Given the description of an element on the screen output the (x, y) to click on. 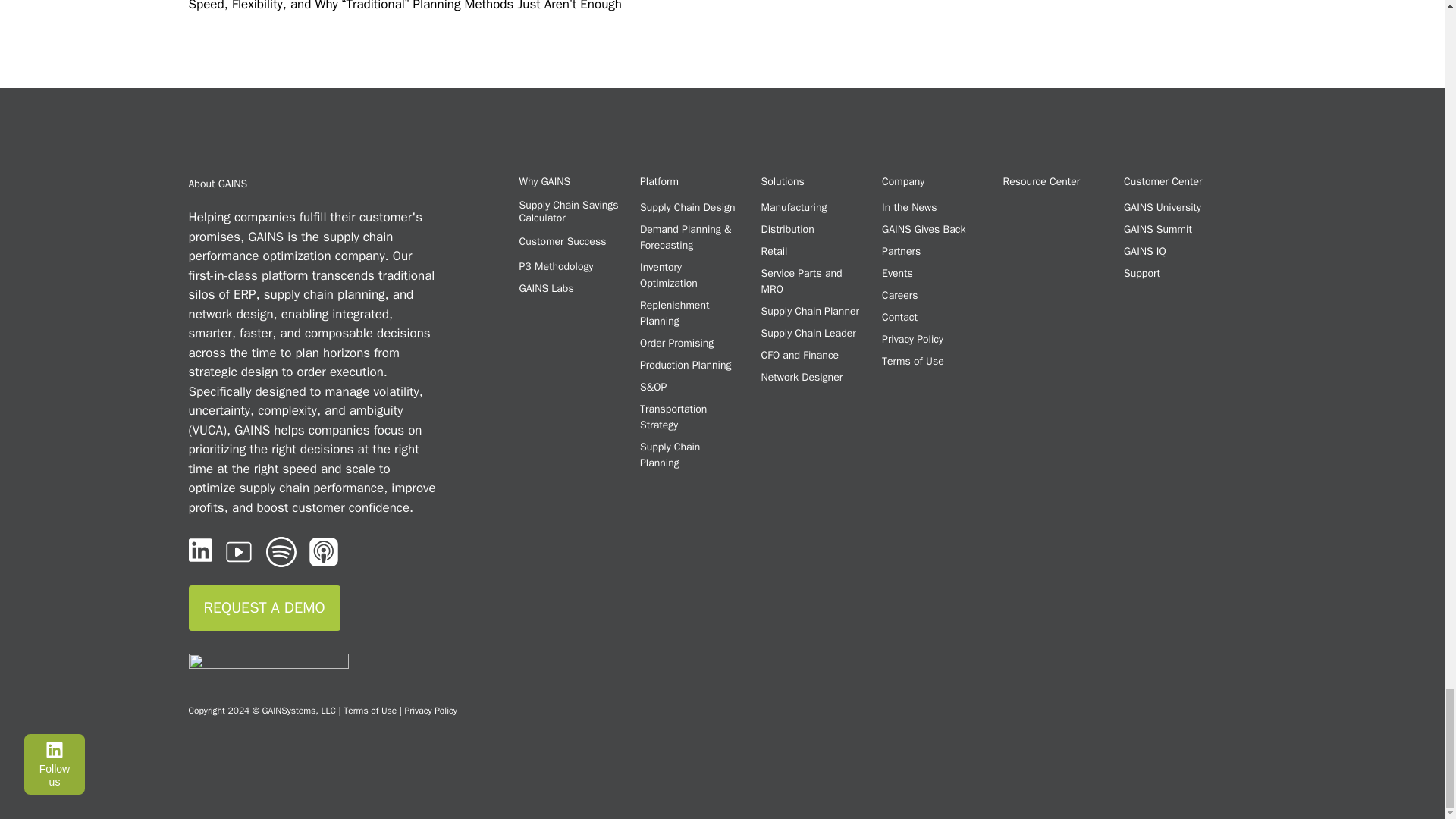
GAINS logo-all-white (267, 669)
applepodcasts (323, 552)
